Given the description of an element on the screen output the (x, y) to click on. 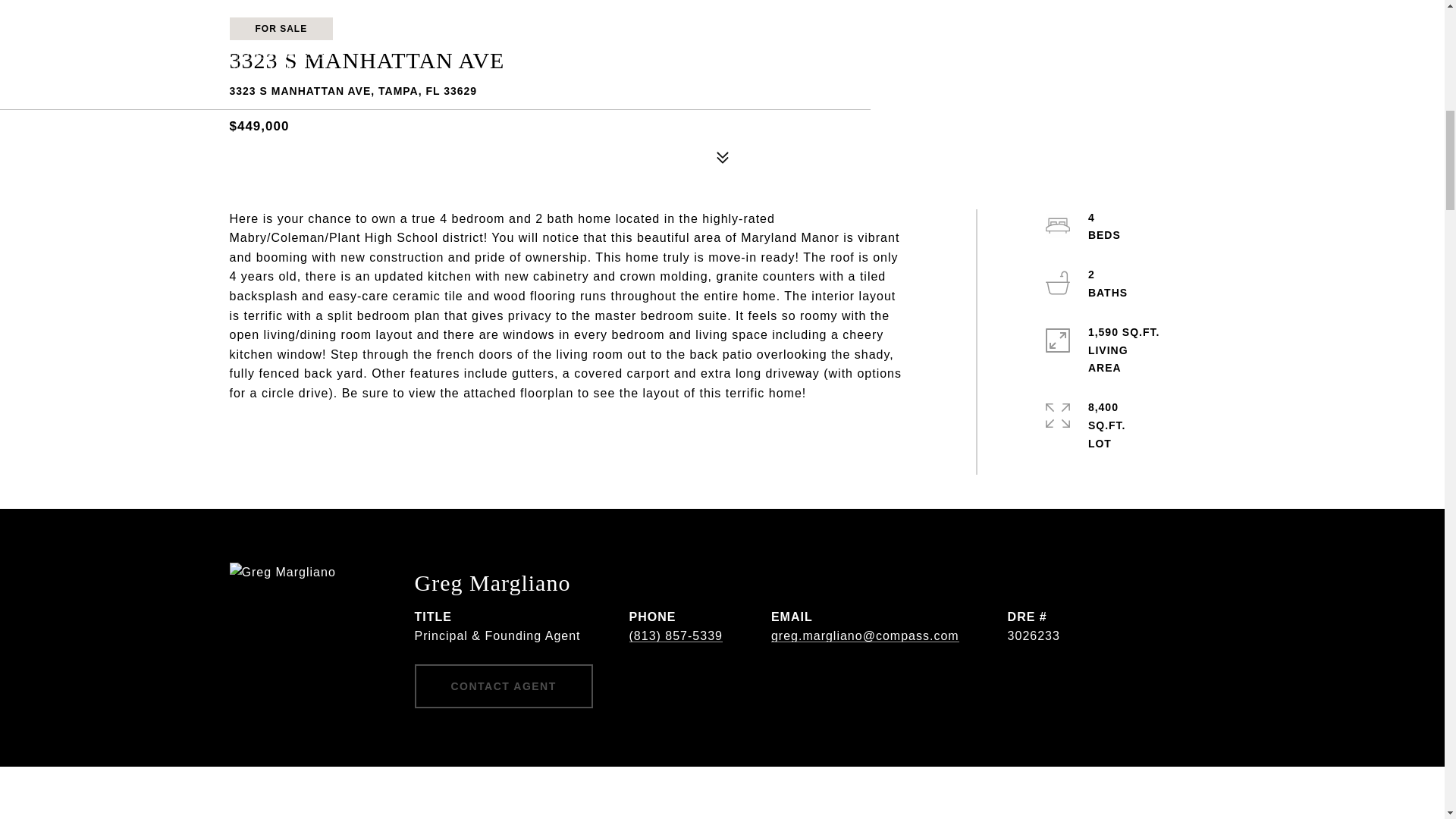
CONTACT AGENT (502, 686)
